Given the description of an element on the screen output the (x, y) to click on. 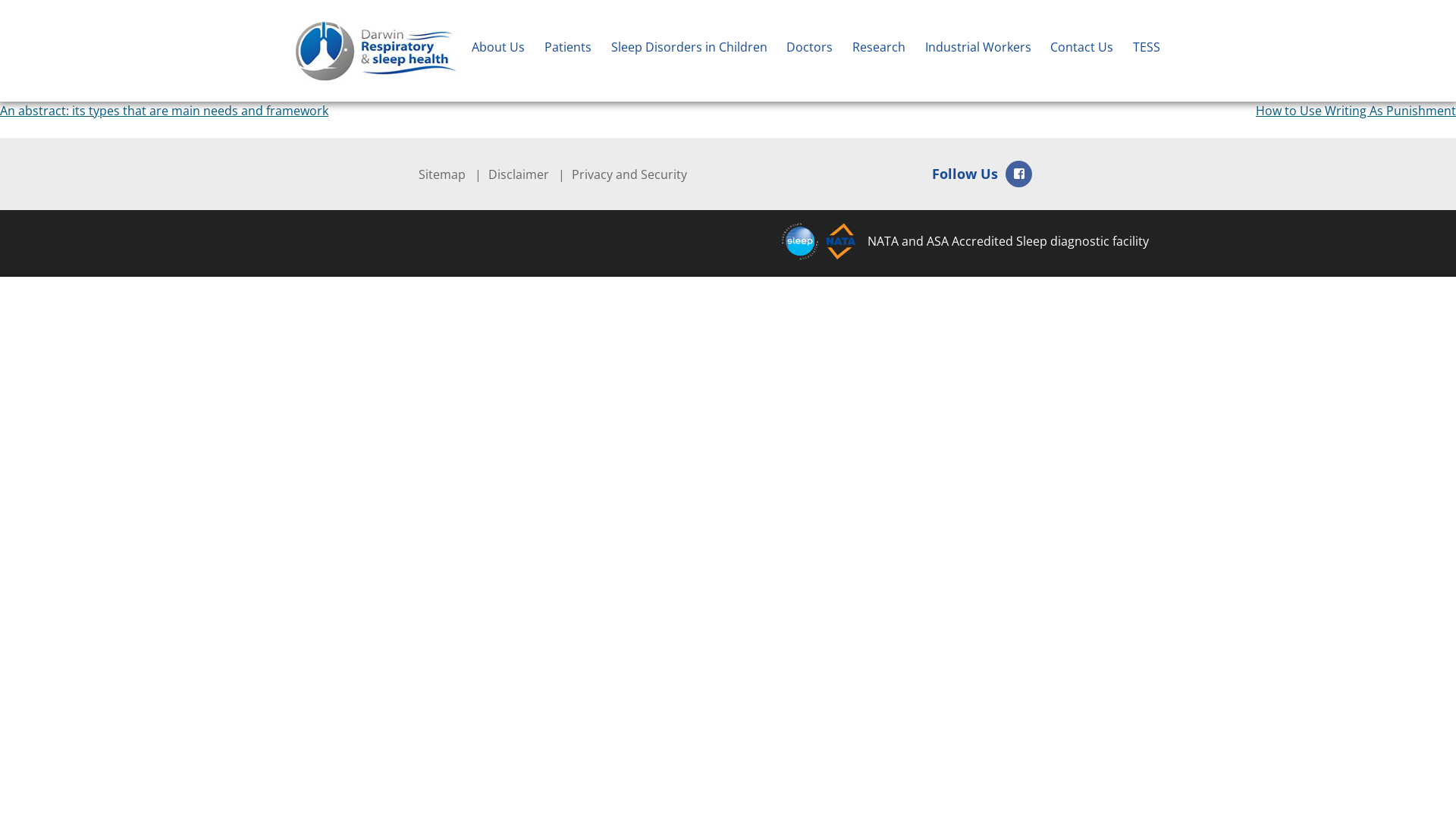
Disclaimer Element type: text (518, 173)
Darwin Respiratory & Sleep Health Element type: text (394, 41)
Contact Us Element type: text (1081, 50)
Privacy and Security Element type: text (629, 173)
Sleep Disorders in Children Element type: text (689, 50)
Patients Element type: text (567, 50)
About Us Element type: text (497, 50)
Research Element type: text (878, 50)
Doctors Element type: text (809, 50)
TESS Element type: text (1146, 50)
An abstract: its types that are main needs and framework Element type: text (164, 110)
Skip to content Element type: text (0, 0)
Facebook Element type: text (1018, 173)
Sitemap Element type: text (441, 173)
Industrial Workers Element type: text (978, 50)
